Given the description of an element on the screen output the (x, y) to click on. 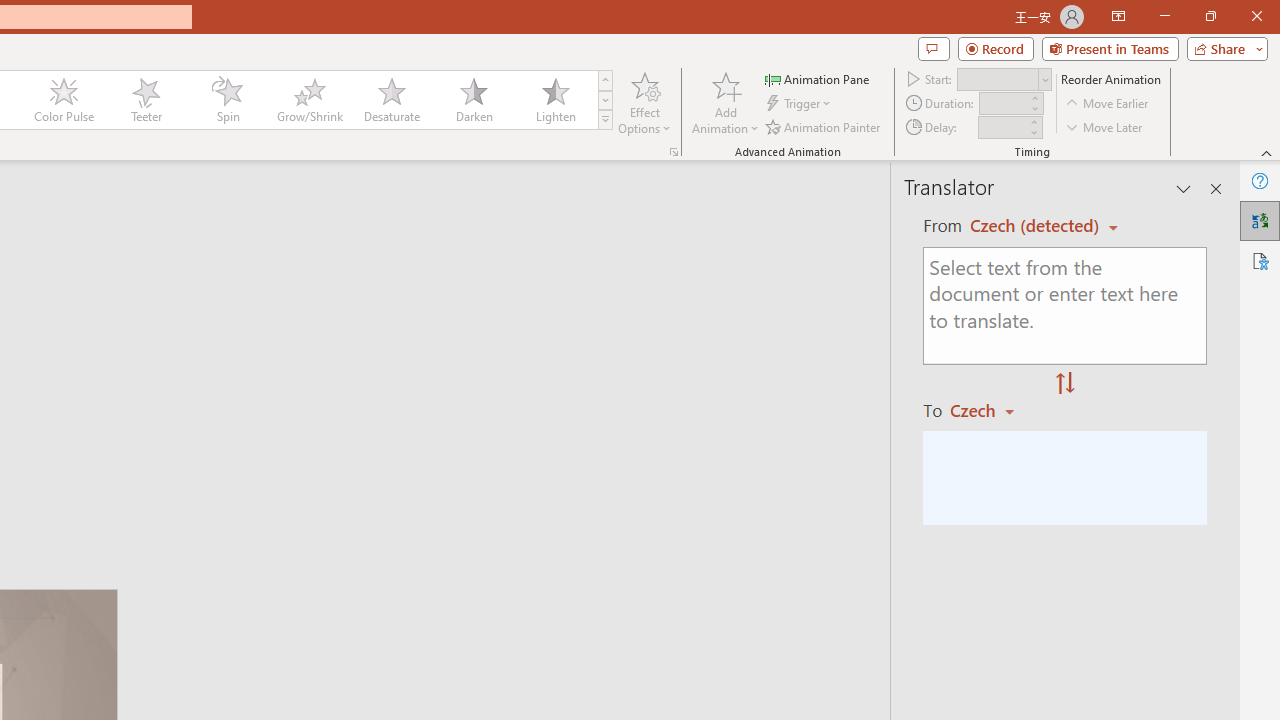
Copilot (Ctrl+Shift+.) (1241, 82)
